Given the description of an element on the screen output the (x, y) to click on. 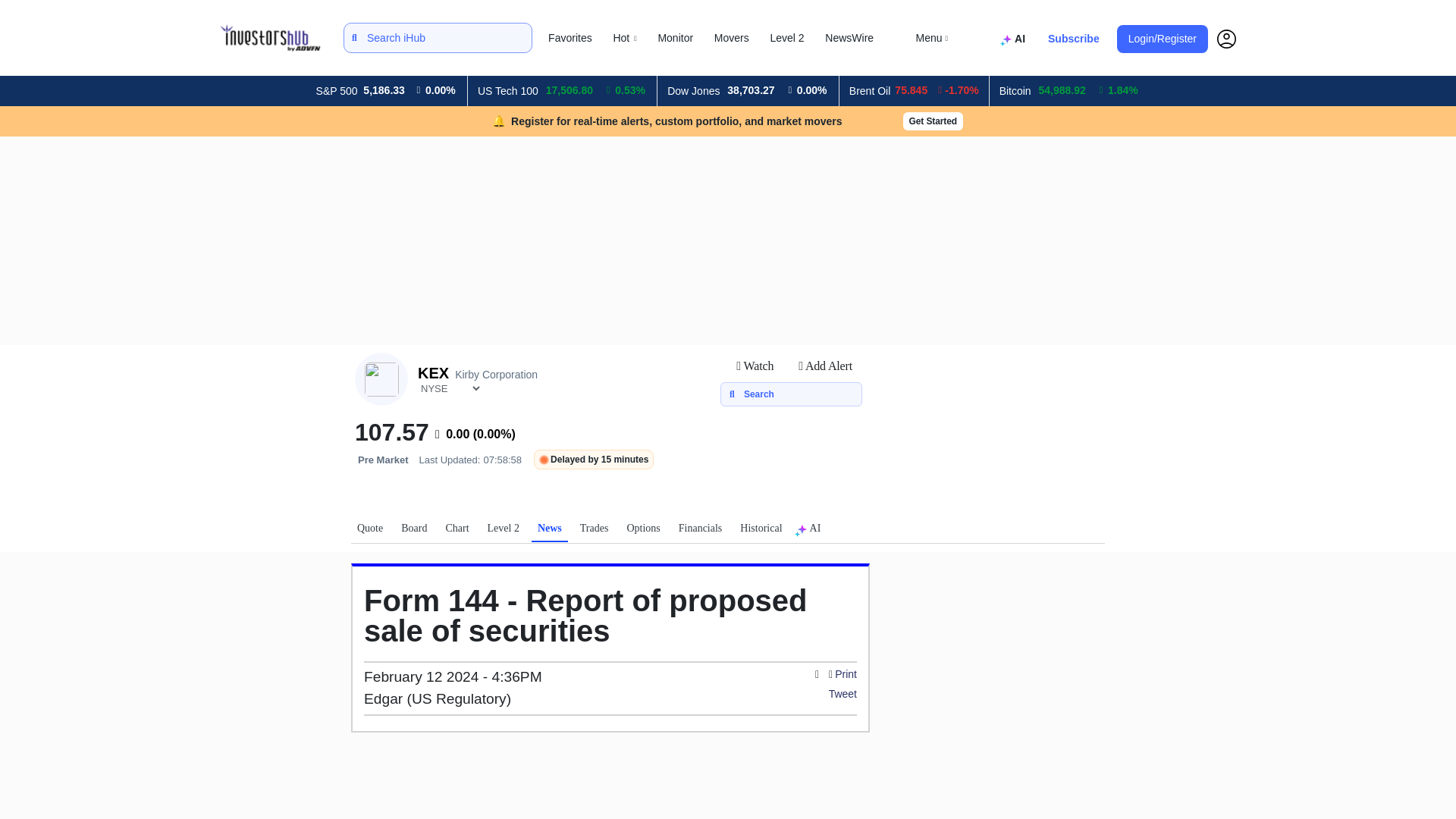
Option Chain for Kirby (642, 531)
Trades for KEX (593, 531)
Financial Analysis powered by AI (1015, 39)
Level 2 for KEX (503, 531)
Favorites (569, 37)
Quotes for Kirby shares (369, 531)
Kirby Financial Analysis powered by AI (810, 531)
Movers (731, 37)
News about Kirby (549, 532)
